Given the description of an element on the screen output the (x, y) to click on. 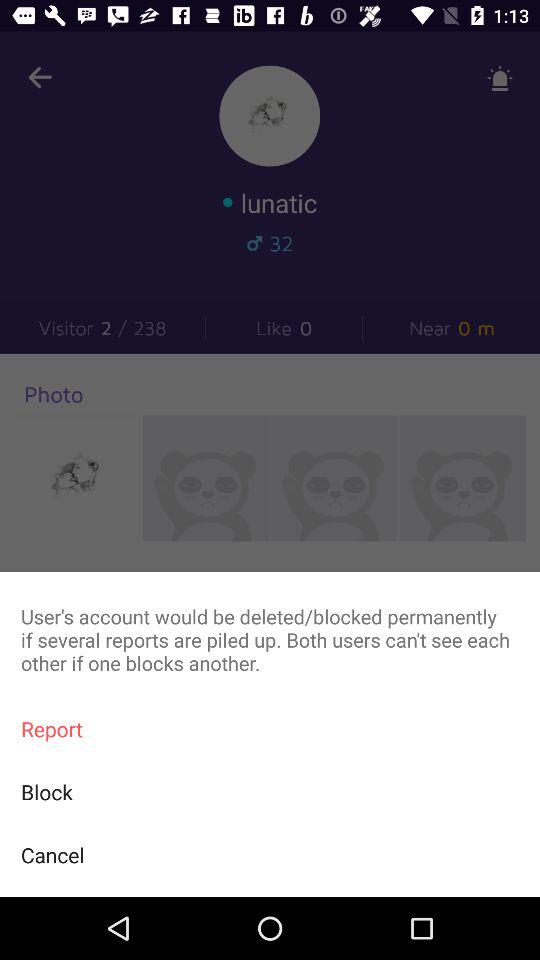
open the item above block icon (270, 728)
